Given the description of an element on the screen output the (x, y) to click on. 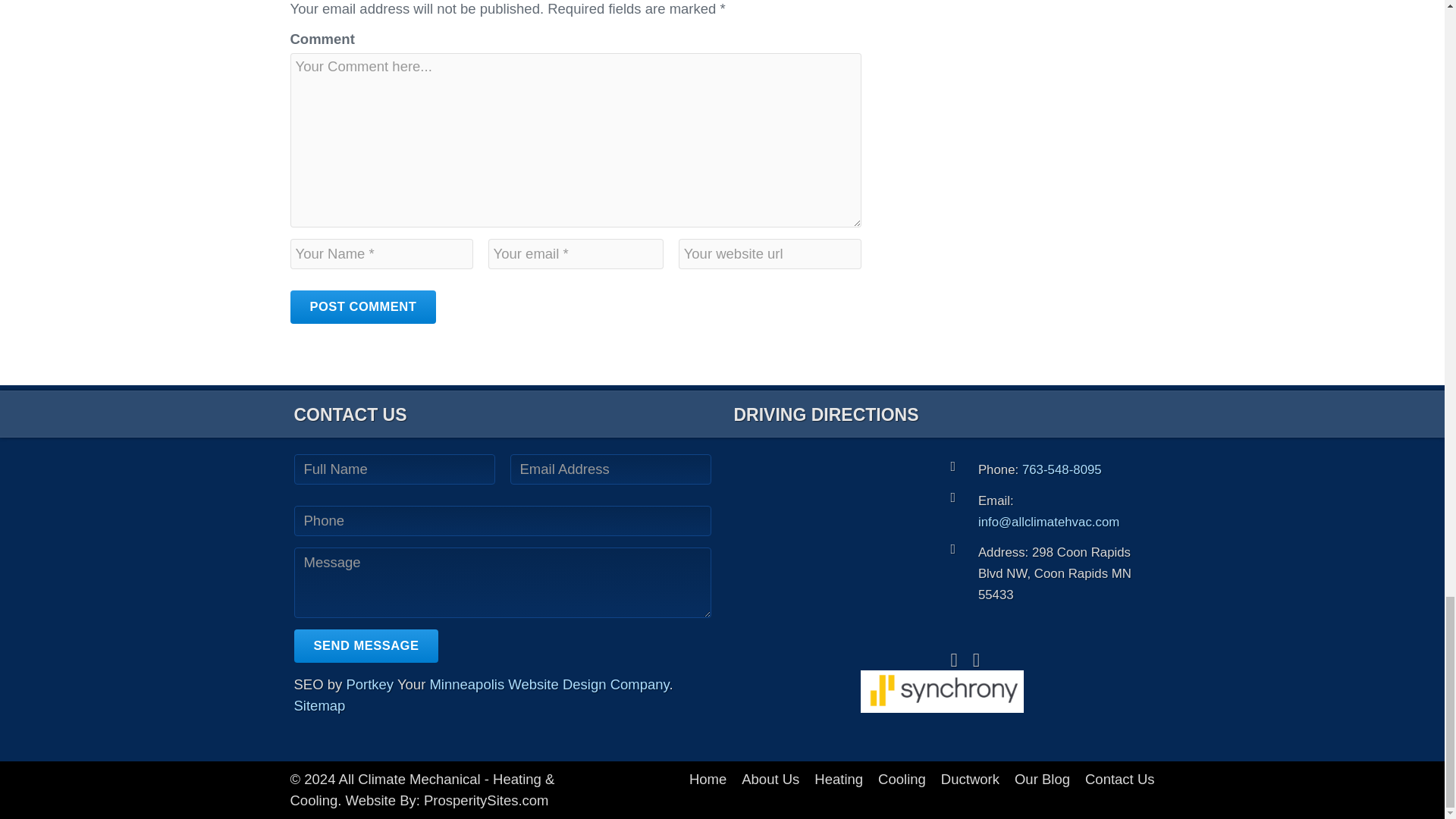
Send Message (366, 645)
Post Comment (362, 306)
